Given the description of an element on the screen output the (x, y) to click on. 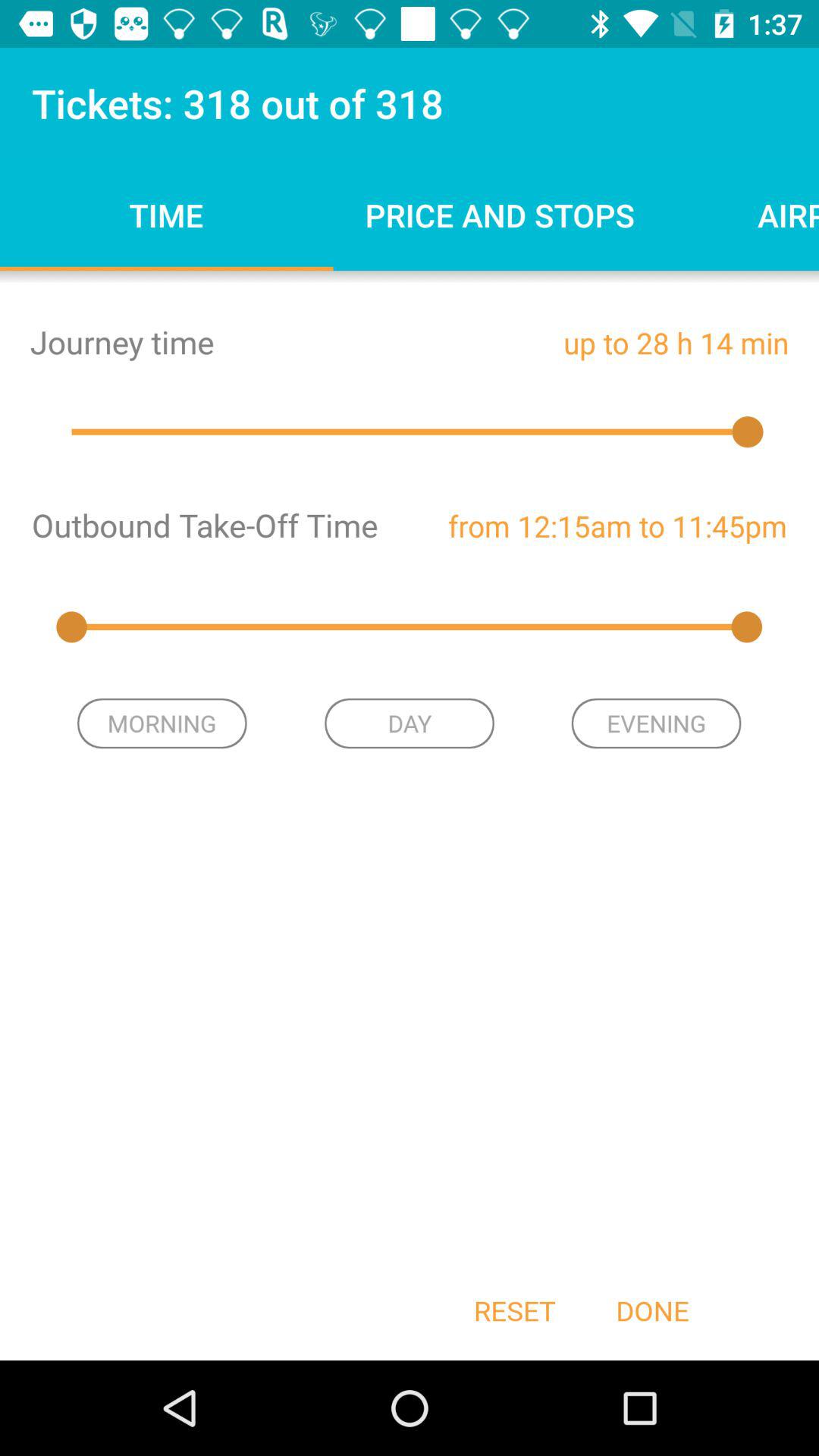
select item next to the morning item (409, 723)
